Given the description of an element on the screen output the (x, y) to click on. 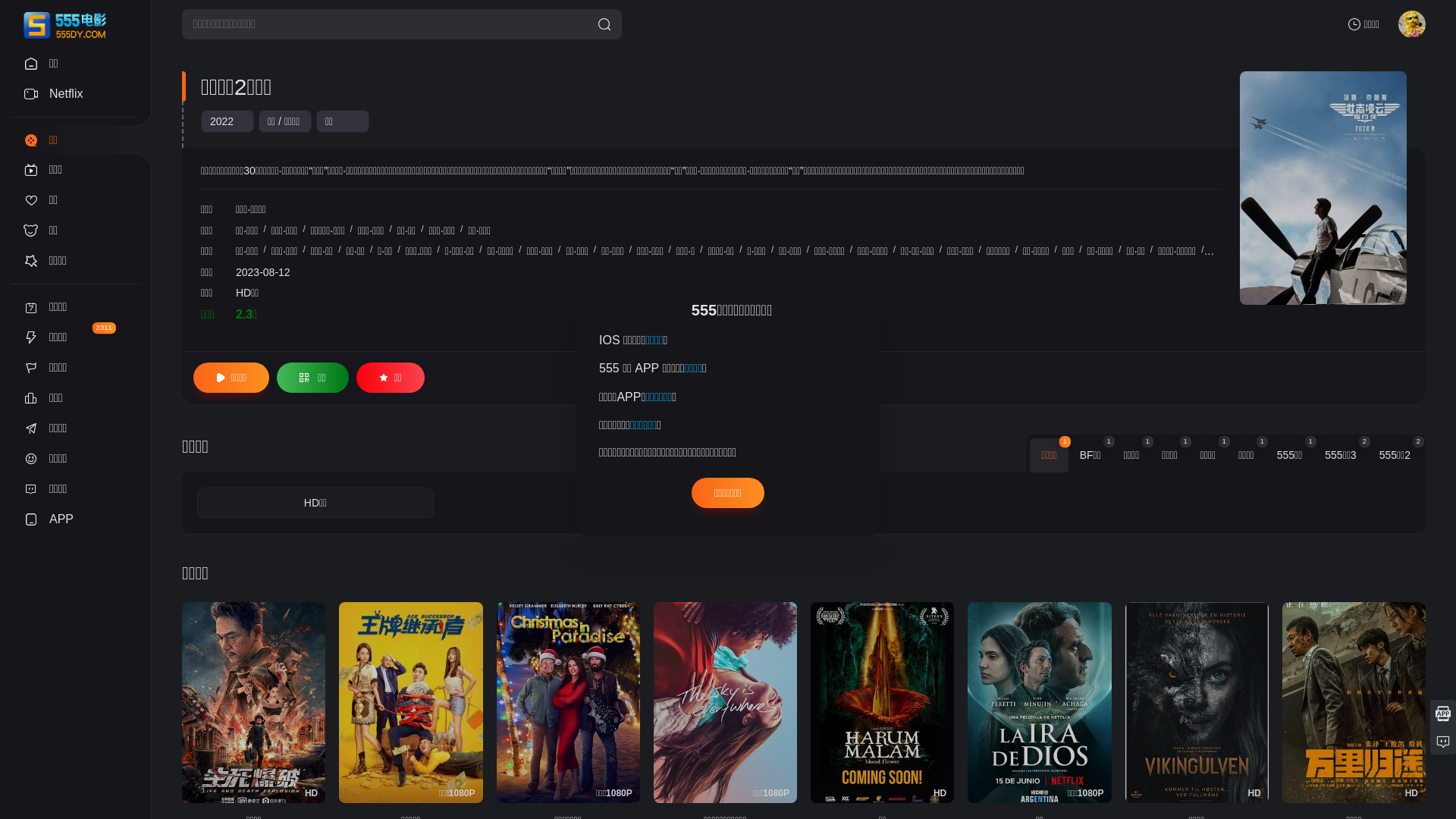
Netflix Element type: text (75, 93)
555dy.org Element type: text (842, 373)
2022 Element type: text (221, 121)
APP Element type: text (75, 519)
